Given the description of an element on the screen output the (x, y) to click on. 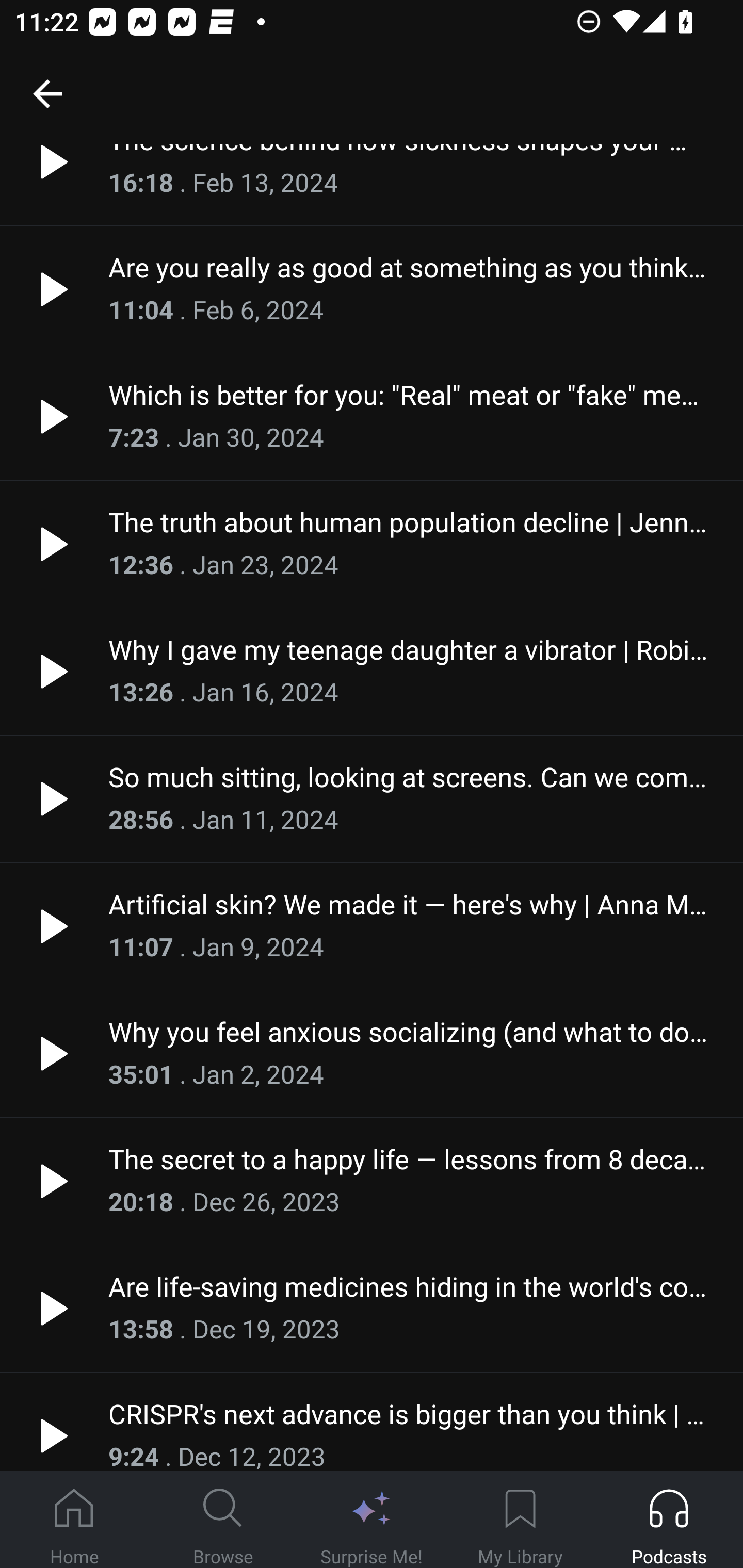
TED Podcasts, back (47, 92)
Home (74, 1520)
Browse (222, 1520)
Surprise Me! (371, 1520)
My Library (519, 1520)
Podcasts (668, 1520)
